Given the description of an element on the screen output the (x, y) to click on. 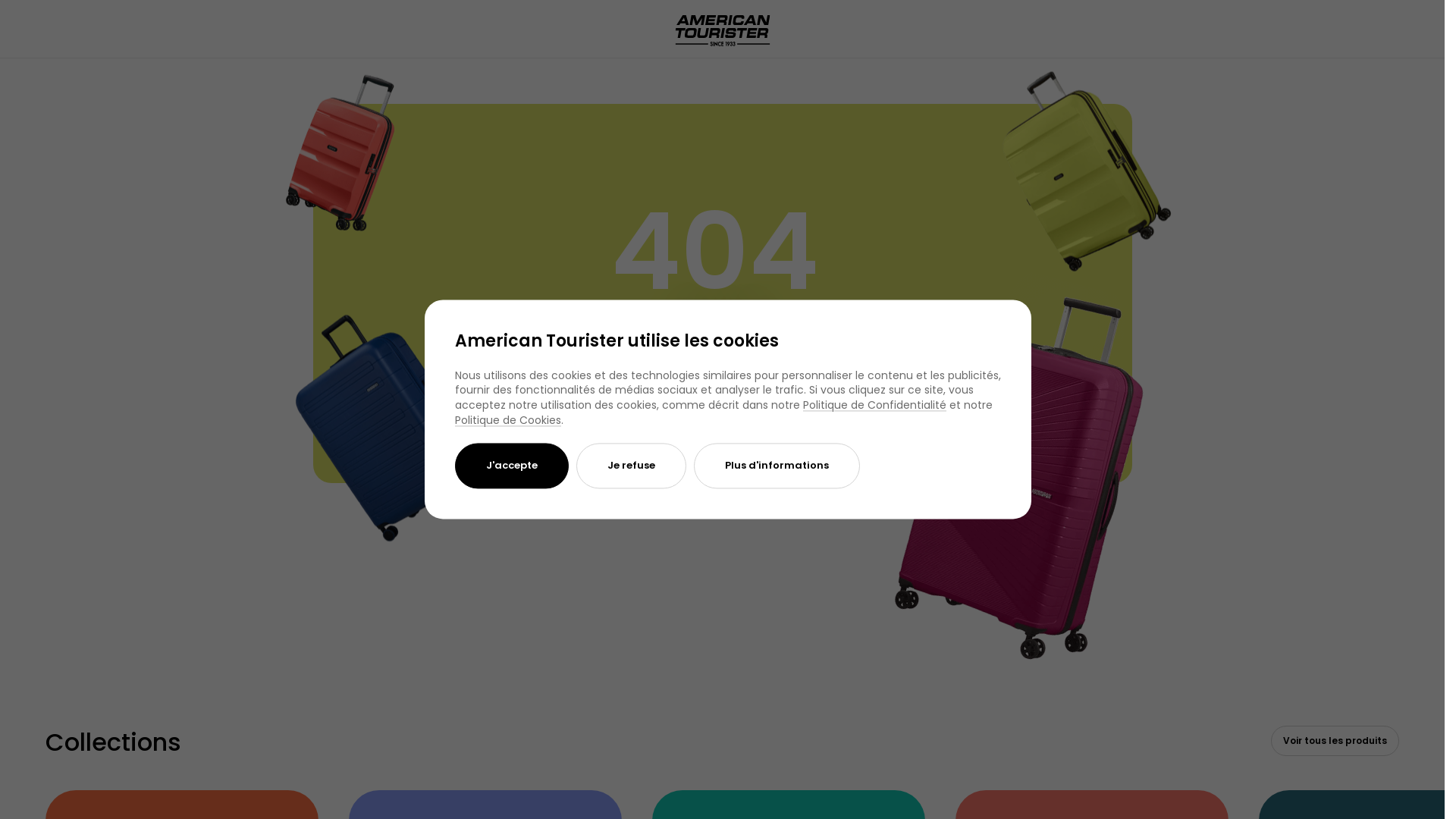
J'accepte Element type: text (511, 466)
Voir tous les produits Element type: text (1334, 740)
American Tourister Element type: hover (780, 71)
Politique de Cookies Element type: text (508, 419)
Je refuse Element type: text (631, 466)
Back to home Element type: text (722, 365)
Plus d'informations Element type: text (776, 466)
